Given the description of an element on the screen output the (x, y) to click on. 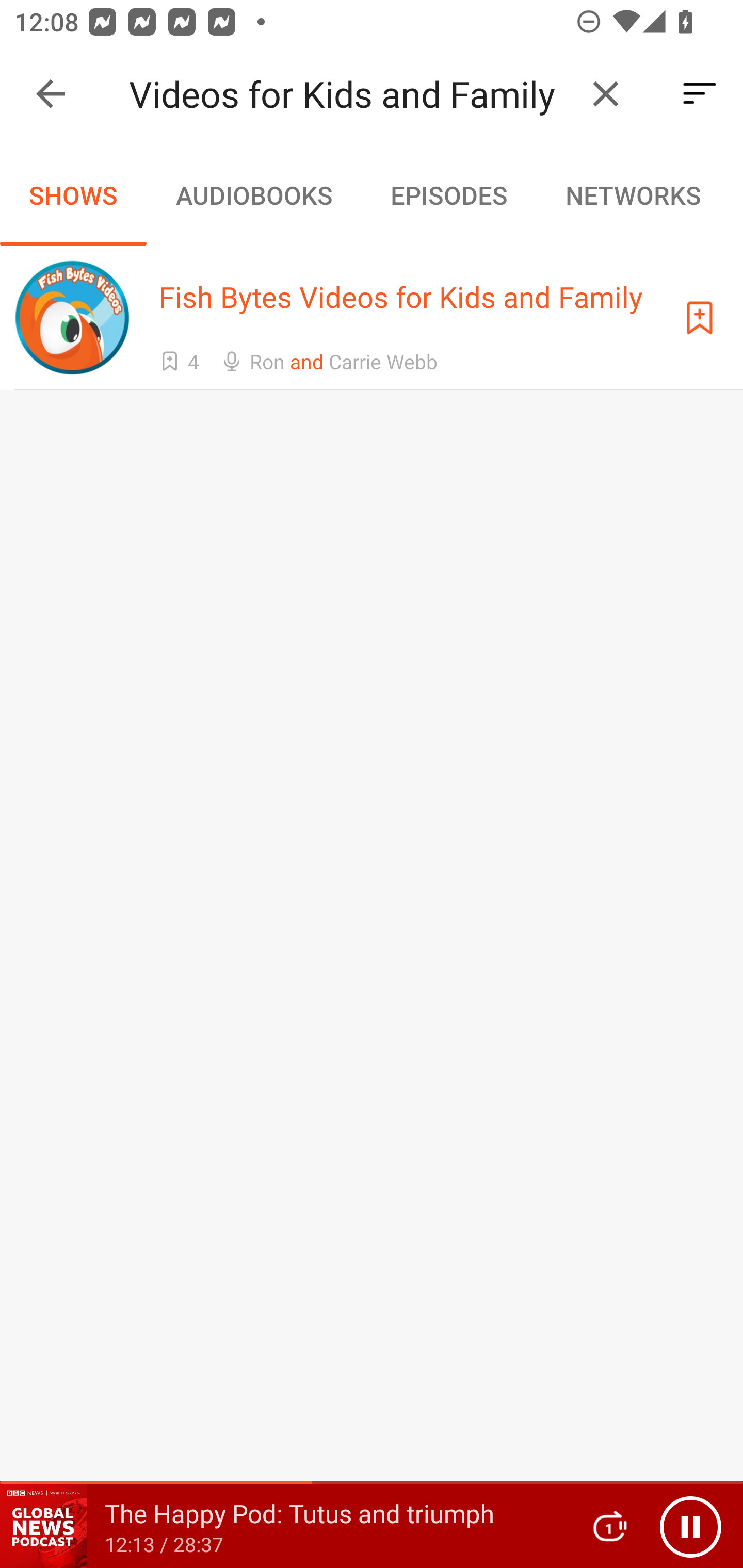
Collapse (50, 93)
Clear query (605, 93)
Sort By (699, 93)
Fish Bytes Videos for Kids and Family (349, 94)
SHOWS (73, 195)
AUDIOBOOKS (253, 195)
EPISODES (448, 195)
NETWORKS (632, 195)
Subscribe (699, 317)
The Happy Pod: Tutus and triumph 12:13 / 28:37 (283, 1525)
Pause (690, 1526)
